Given the description of an element on the screen output the (x, y) to click on. 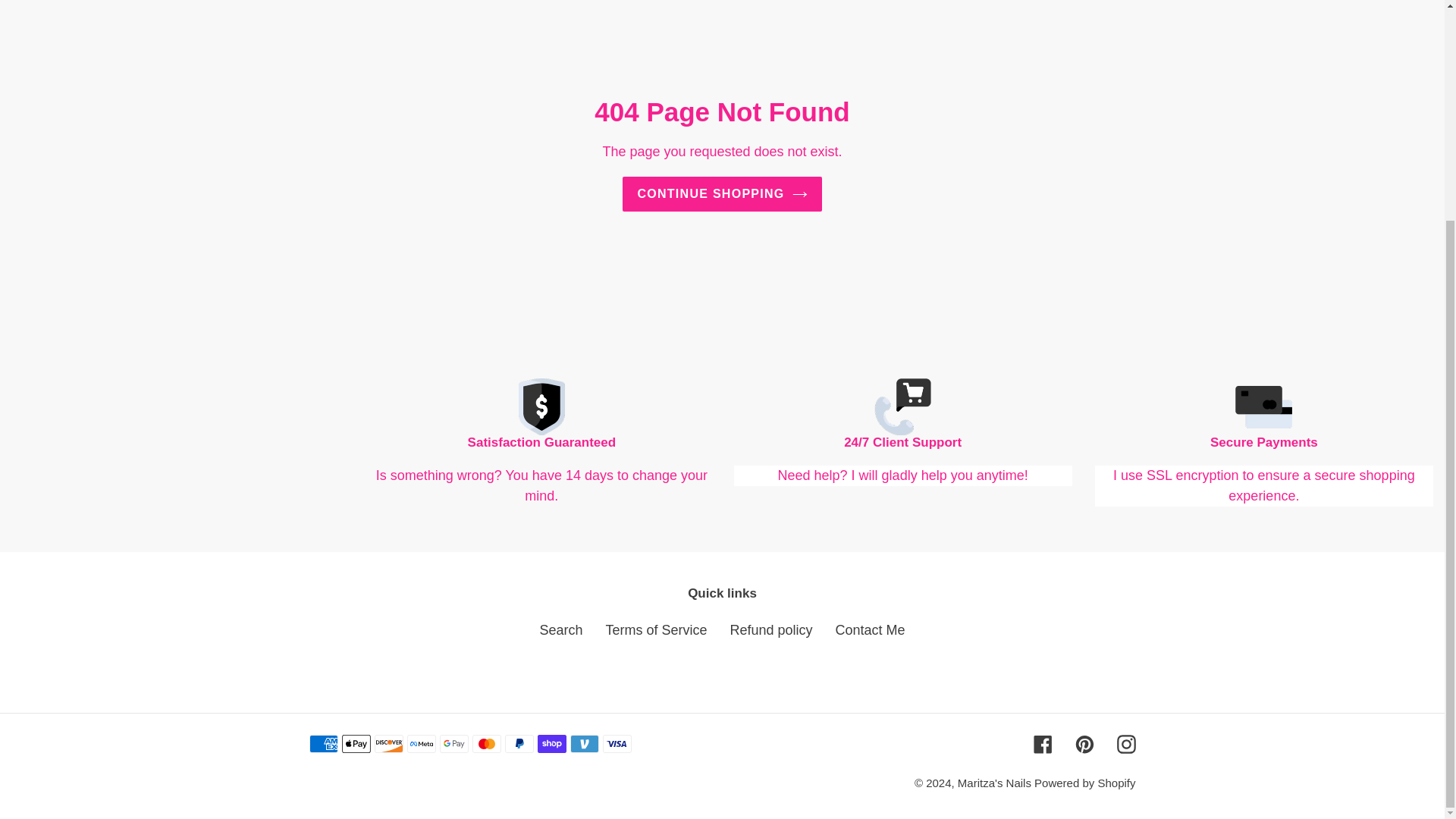
Search (560, 630)
Refund policy (770, 630)
Contact Me (870, 630)
Pinterest (1084, 743)
Powered by Shopify (1084, 782)
Maritza's Nails (995, 782)
Facebook (1041, 743)
Instagram (1125, 743)
Terms of Service (655, 630)
CONTINUE SHOPPING (722, 193)
